Given the description of an element on the screen output the (x, y) to click on. 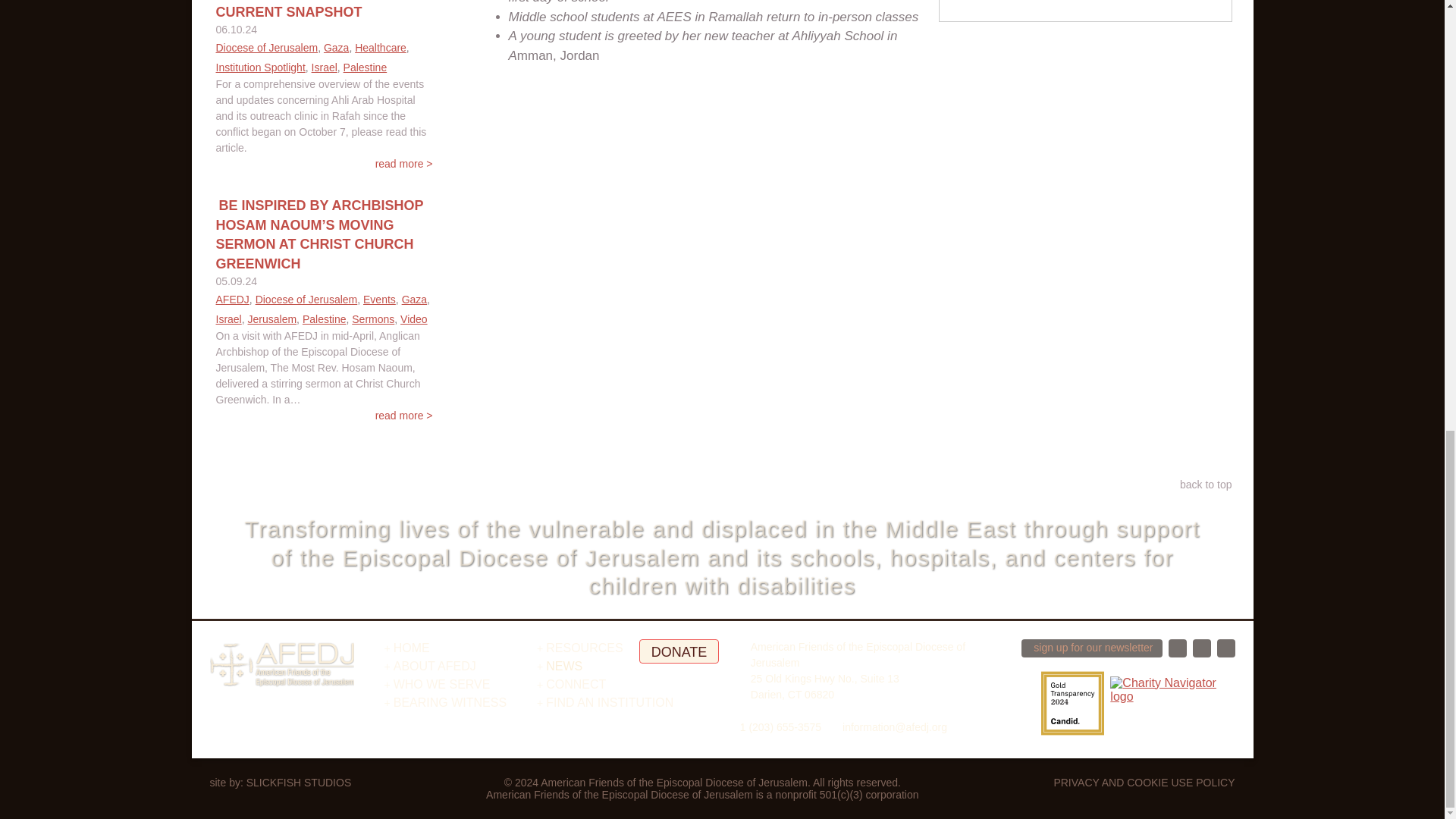
A creative Maine website design company. (298, 782)
